Given the description of an element on the screen output the (x, y) to click on. 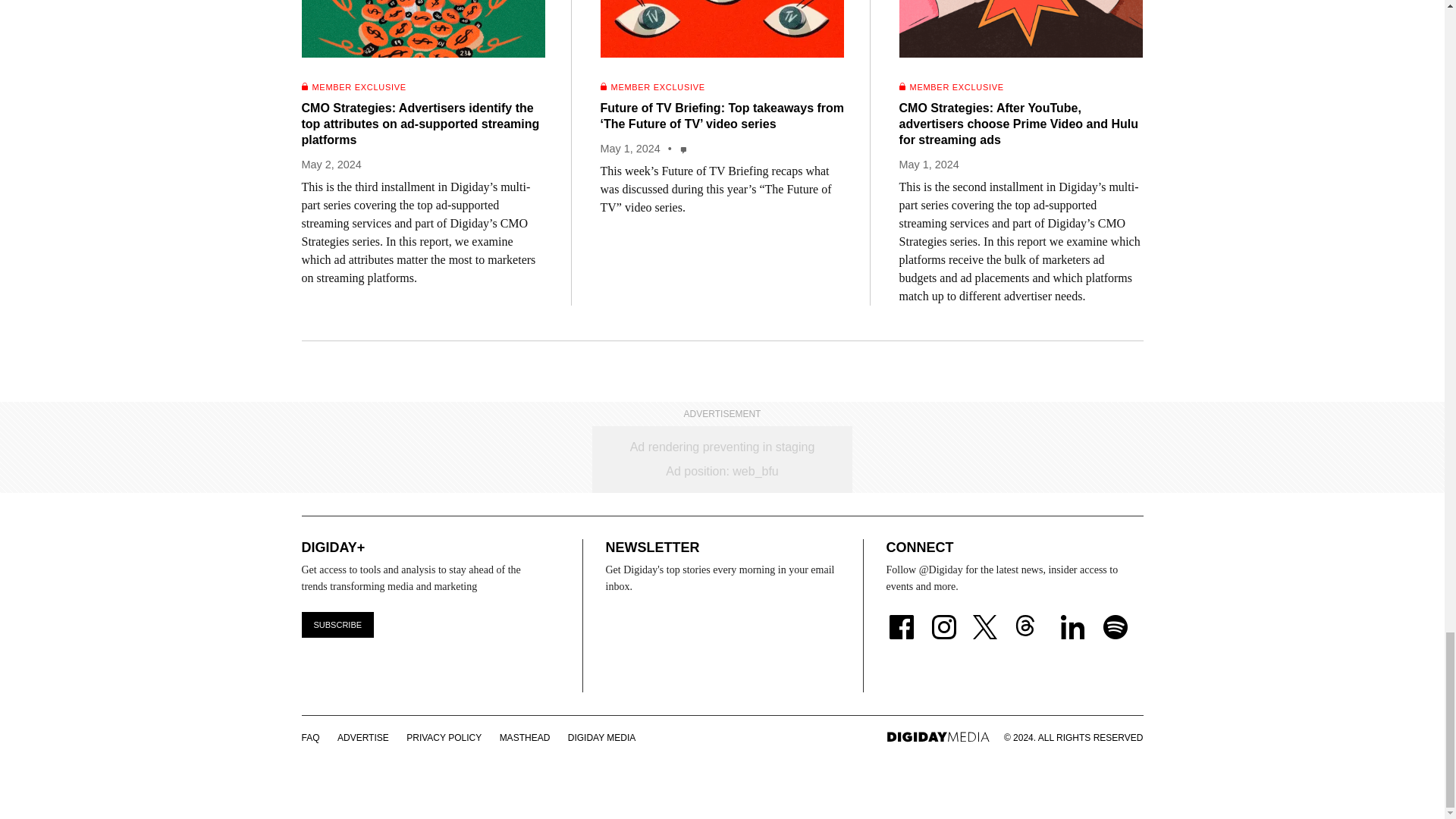
Join the conversation (683, 148)
